Given the description of an element on the screen output the (x, y) to click on. 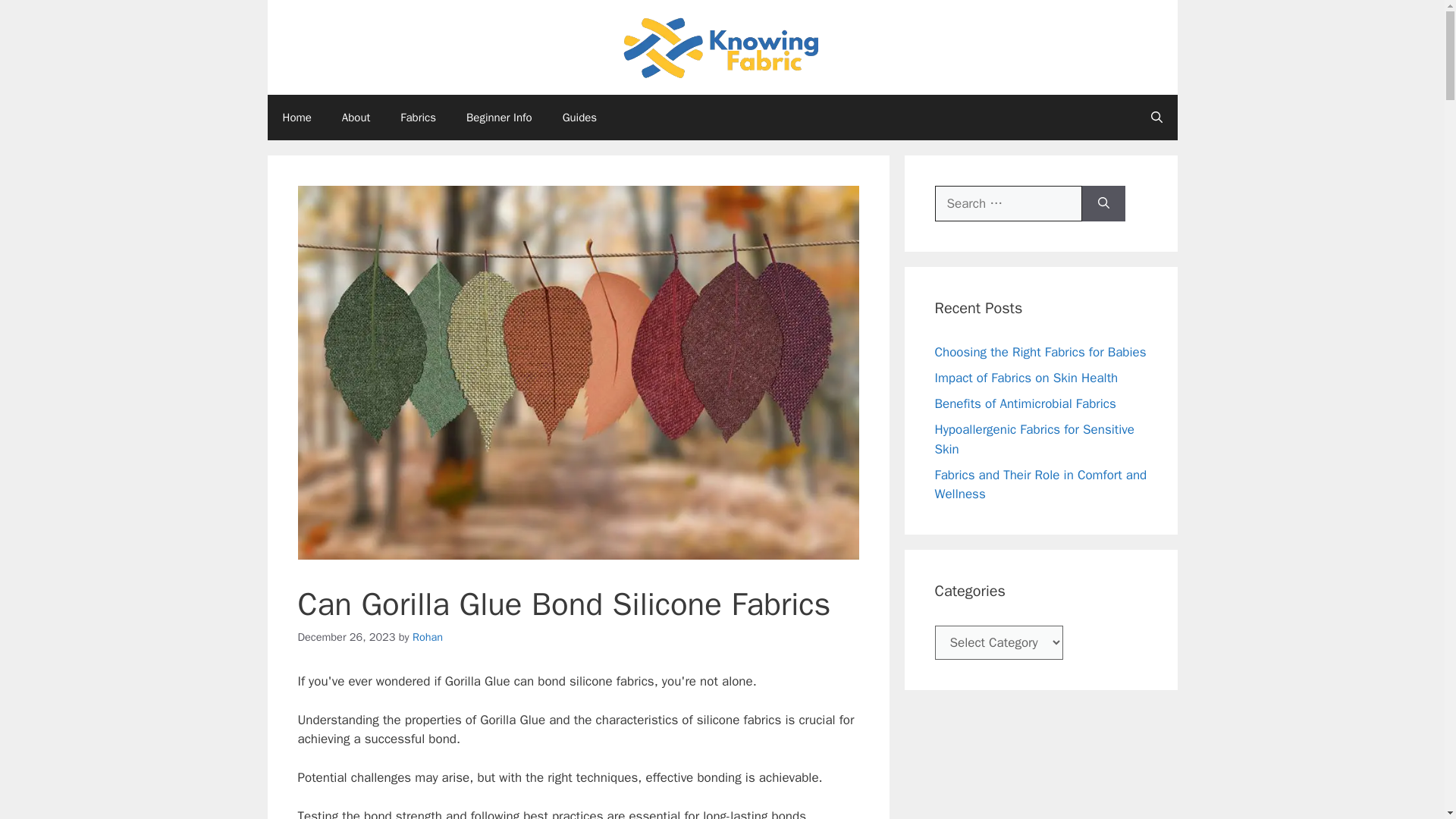
Fabrics and Their Role in Comfort and Wellness (1040, 484)
Benefits of Antimicrobial Fabrics (1024, 403)
Guides (579, 117)
Fabrics (418, 117)
Search for: (1007, 203)
Beginner Info (499, 117)
View all posts by Rohan (427, 636)
About (355, 117)
Choosing the Right Fabrics for Babies (1039, 351)
Home (296, 117)
Rohan (427, 636)
Impact of Fabrics on Skin Health (1026, 377)
Hypoallergenic Fabrics for Sensitive Skin (1034, 439)
